Given the description of an element on the screen output the (x, y) to click on. 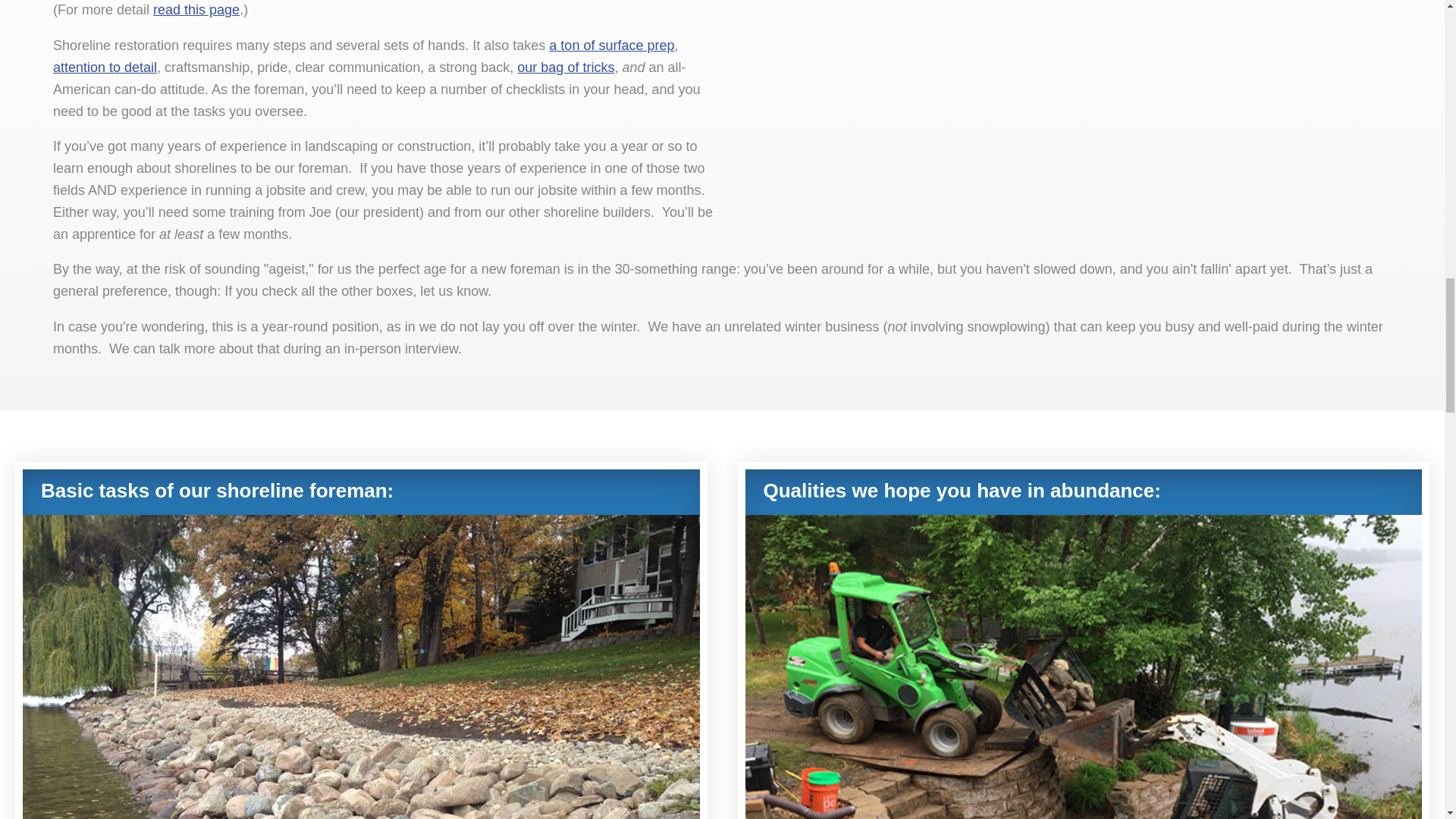
YouTube video player (1063, 119)
